Given the description of an element on the screen output the (x, y) to click on. 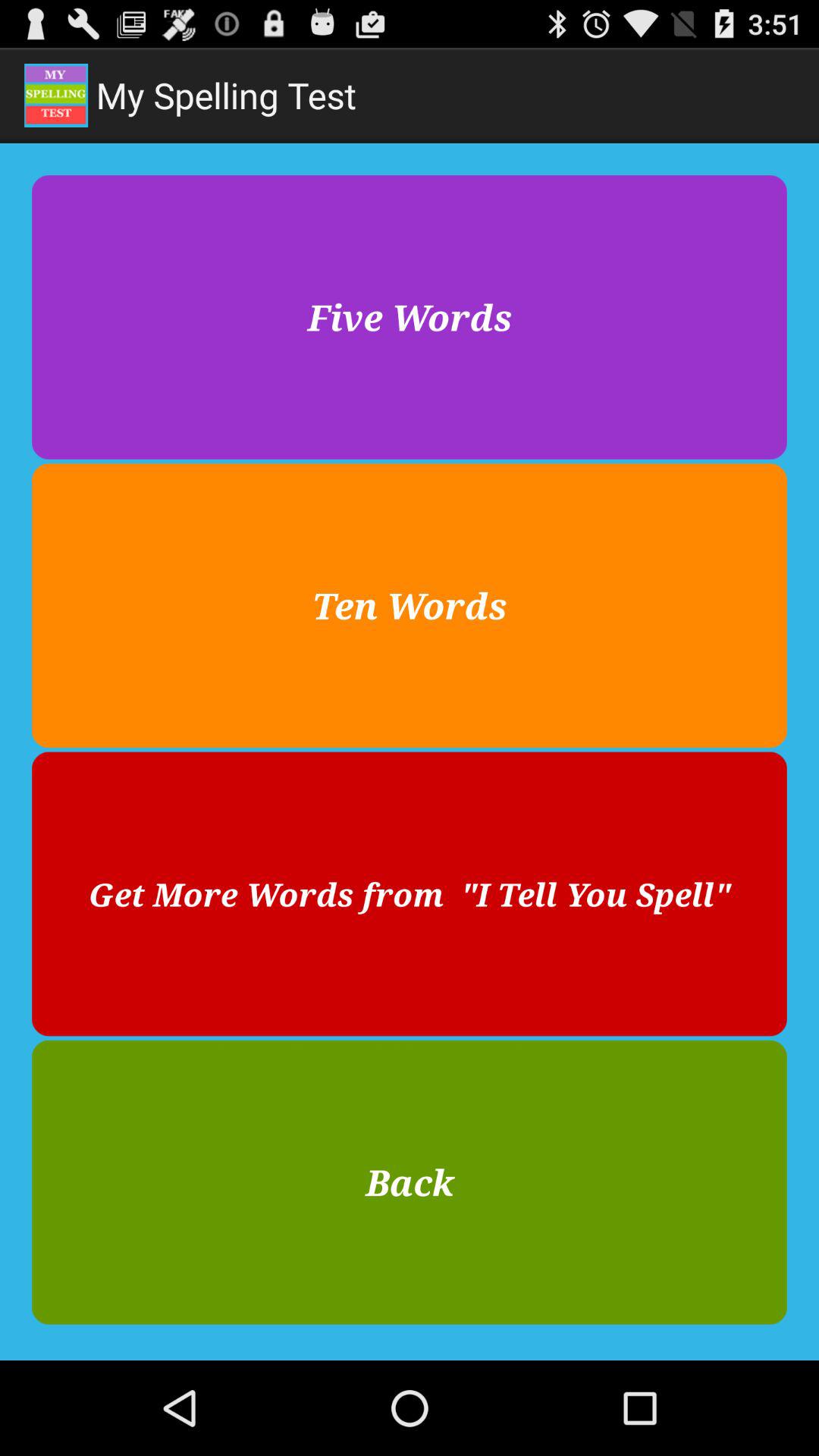
choose item above the back button (409, 893)
